Given the description of an element on the screen output the (x, y) to click on. 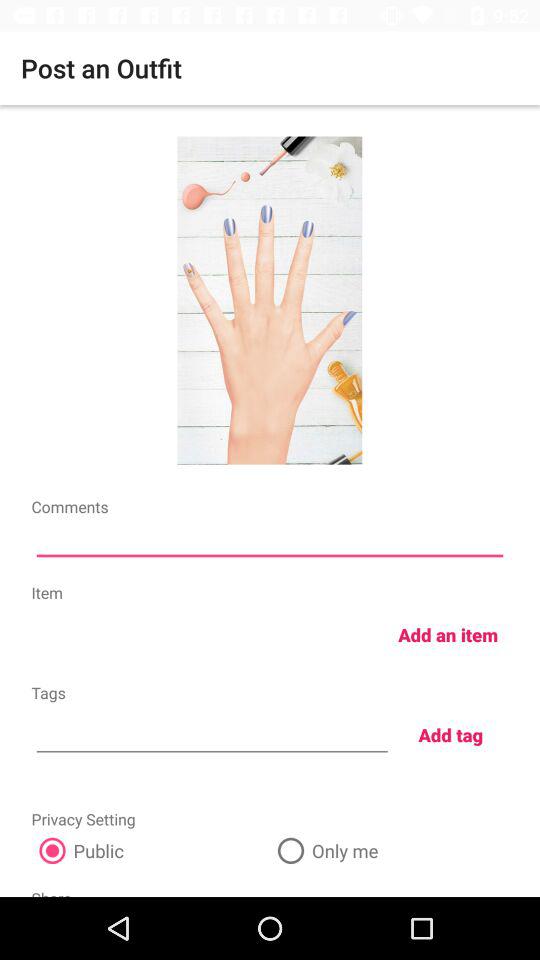
choose item below add an item item (450, 734)
